Given the description of an element on the screen output the (x, y) to click on. 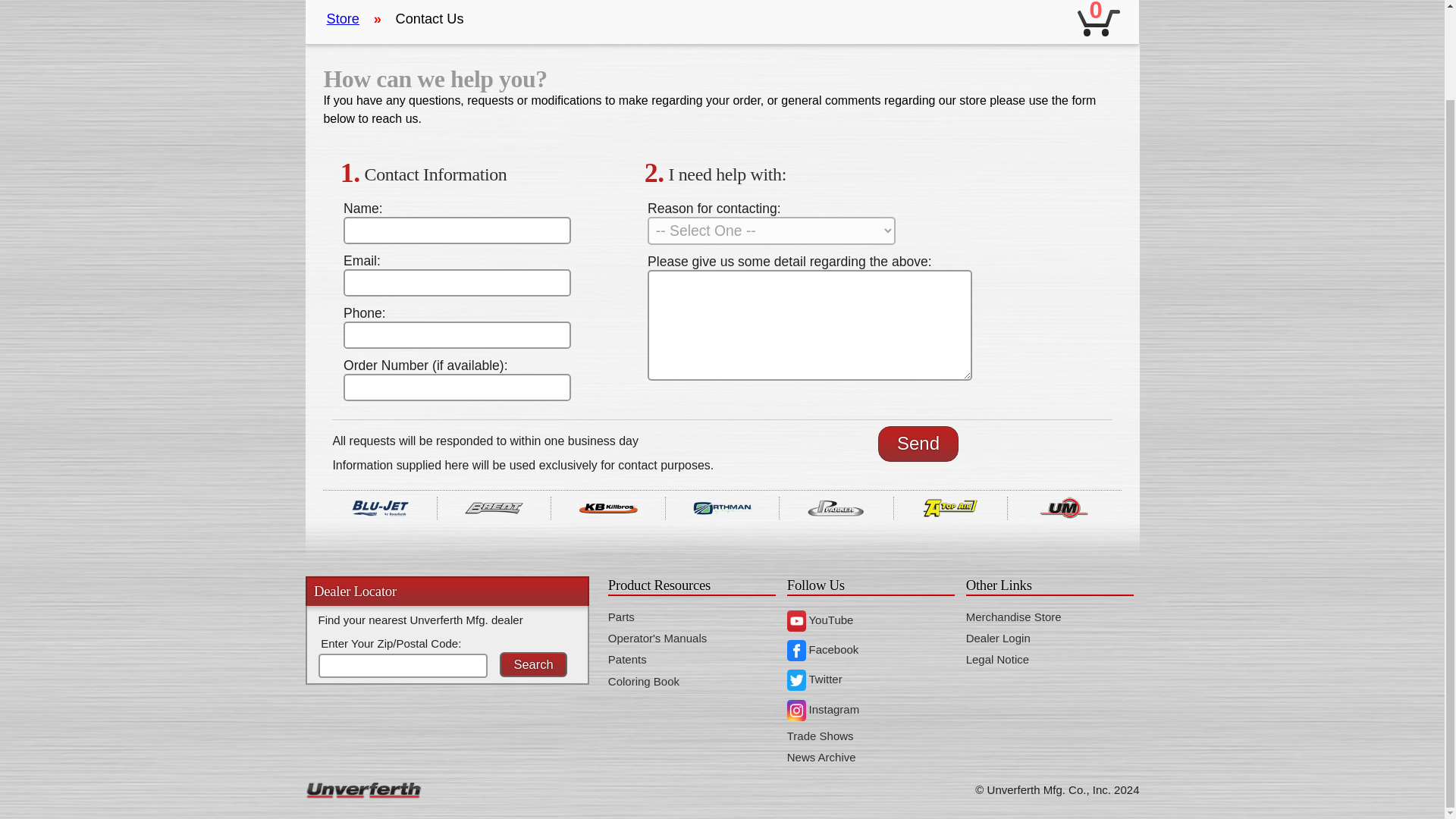
Search (533, 664)
Coloring Book (643, 680)
Parts (621, 616)
Instagram (823, 708)
Legal Notice (997, 658)
Orthman Equipment (721, 507)
News Archive (821, 757)
Parker Equipment (835, 507)
Blu-Jet Equipment (379, 507)
Trade Shows (820, 735)
Unverferth Manufacturing Company Site (997, 789)
Dealer Login (998, 637)
Facebook (823, 649)
Killbros Equipment (606, 507)
Unverferth Mfg (1064, 507)
